Given the description of an element on the screen output the (x, y) to click on. 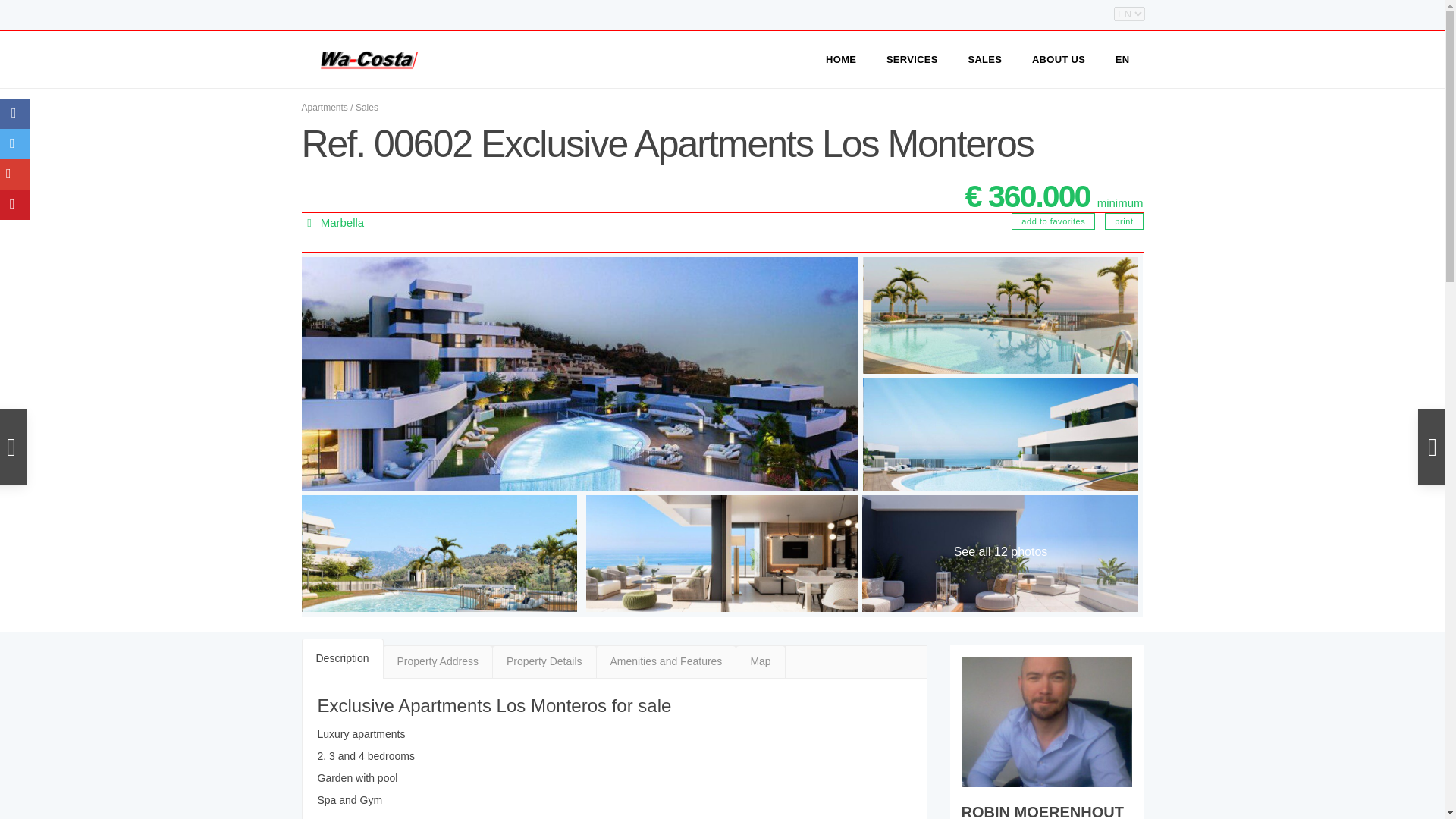
ABOUT US (1058, 59)
Property Details (544, 661)
Property Address (437, 661)
Description (342, 658)
SALES (983, 59)
HOME (840, 59)
Sales (366, 107)
SERVICES (912, 59)
Marbella (342, 222)
Apartments (324, 107)
